Given the description of an element on the screen output the (x, y) to click on. 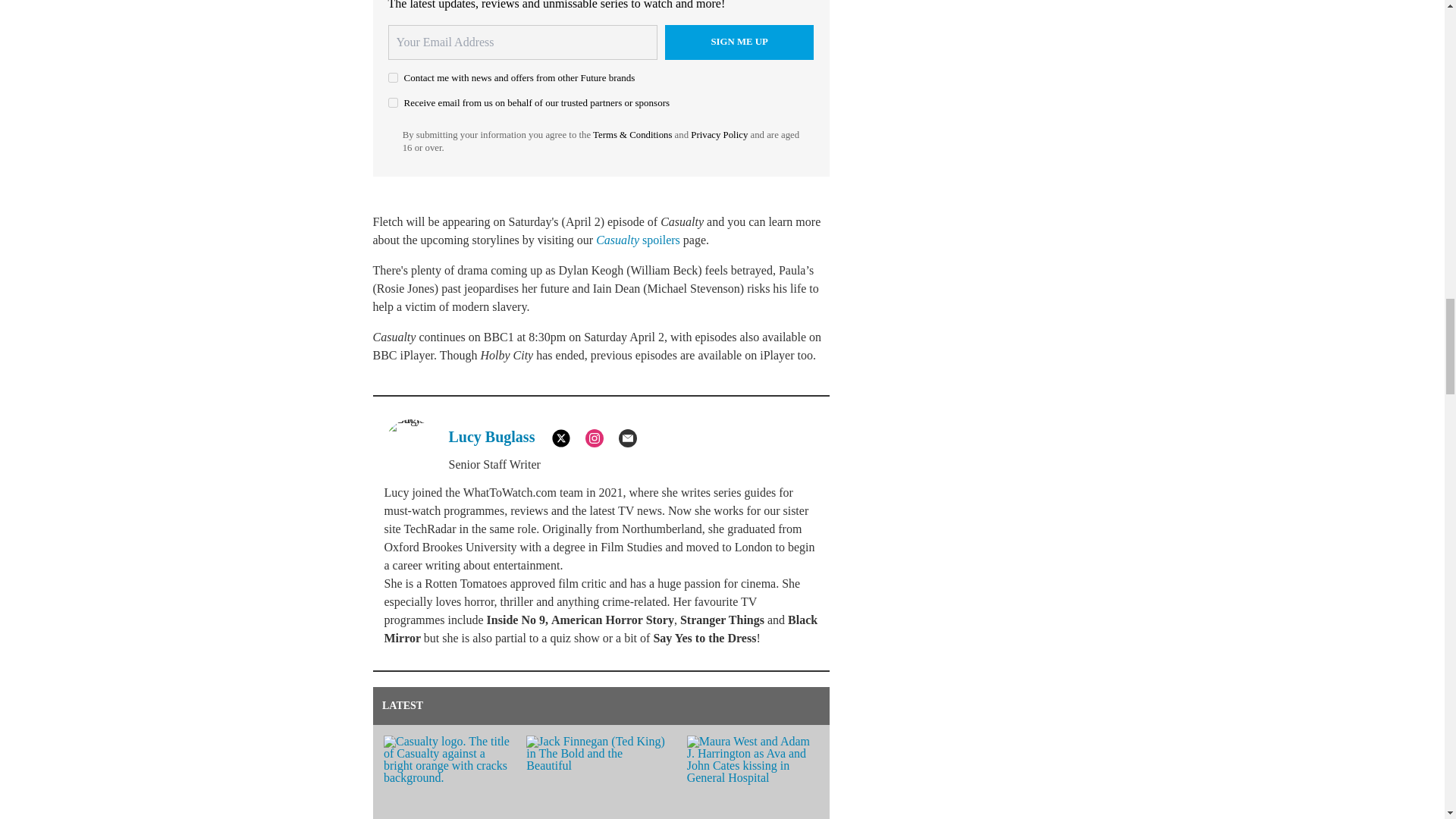
Sign me up (739, 42)
on (392, 77)
on (392, 102)
